Given the description of an element on the screen output the (x, y) to click on. 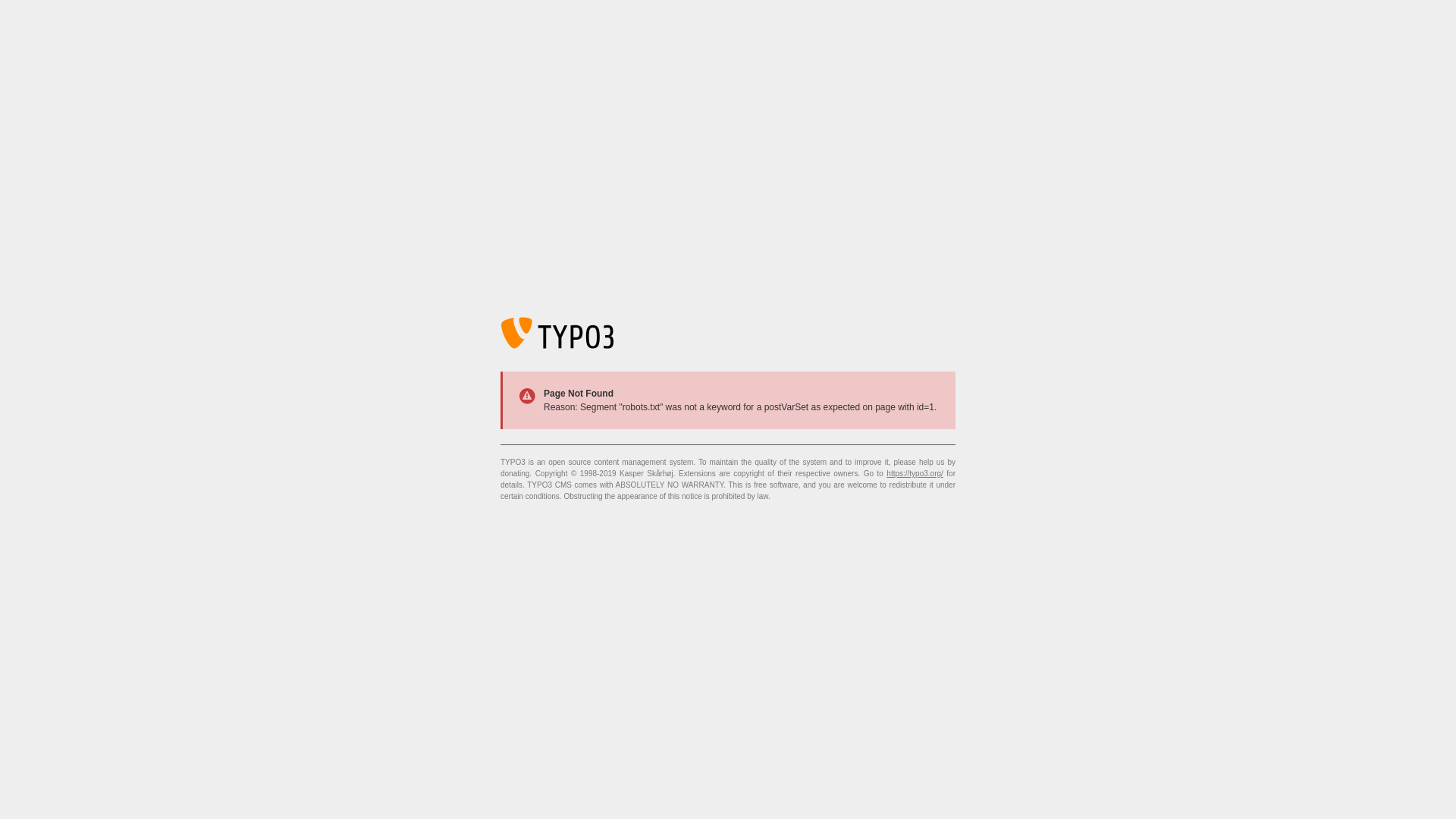
https://typo3.org/ Element type: text (914, 473)
